Given the description of an element on the screen output the (x, y) to click on. 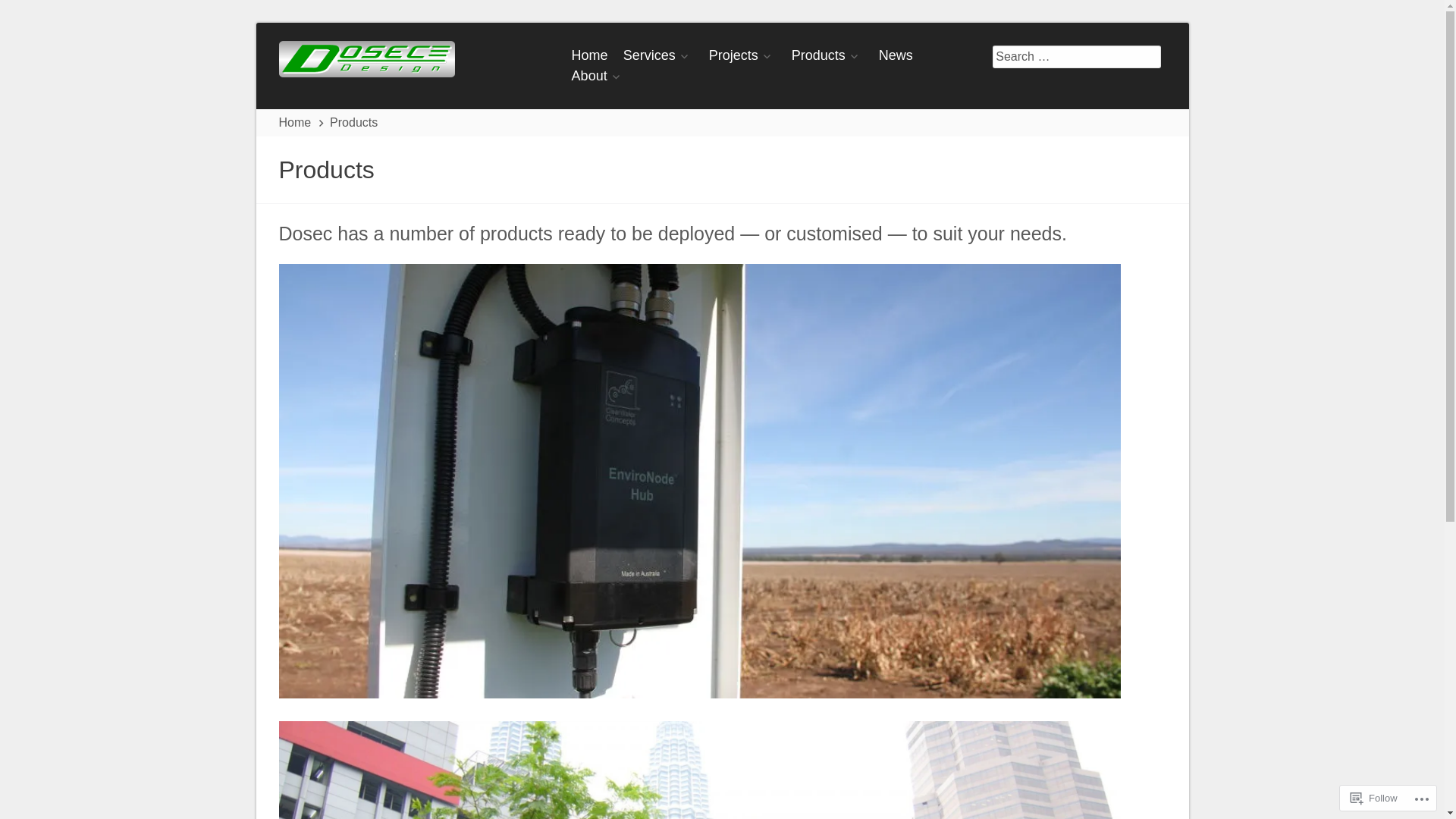
Services Element type: text (658, 54)
Search Element type: text (32, 15)
Home Element type: text (296, 122)
Products Element type: text (827, 54)
News Element type: text (895, 54)
Follow Element type: text (1373, 797)
About Element type: text (598, 75)
Projects Element type: text (742, 54)
Dosec Design Element type: text (367, 56)
Search for: Element type: hover (1076, 56)
Home Element type: text (589, 54)
